Given the description of an element on the screen output the (x, y) to click on. 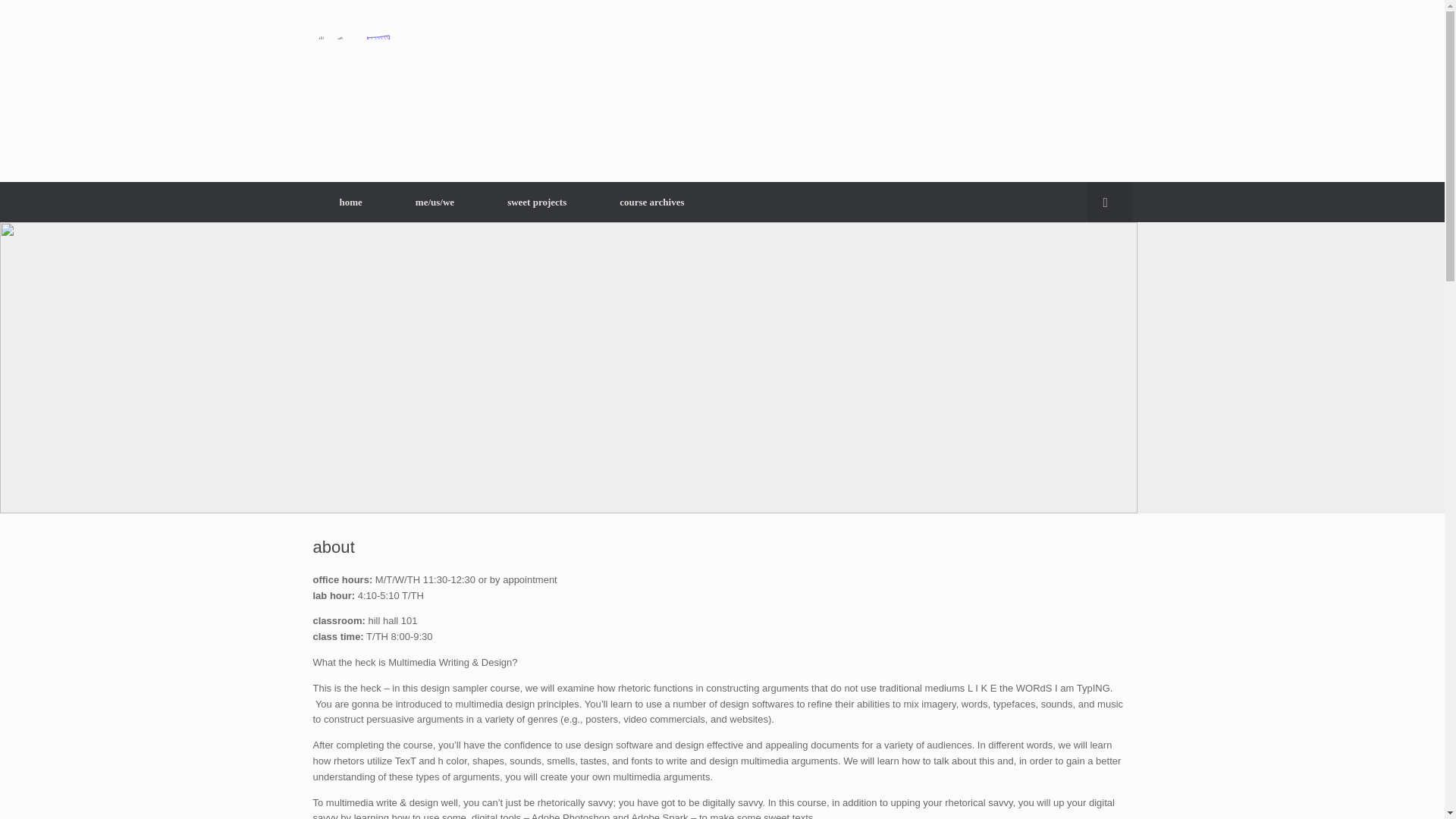
home (350, 201)
docta muhlhauser (672, 91)
sweet projects (536, 201)
home (350, 201)
course archives (651, 201)
